Given the description of an element on the screen output the (x, y) to click on. 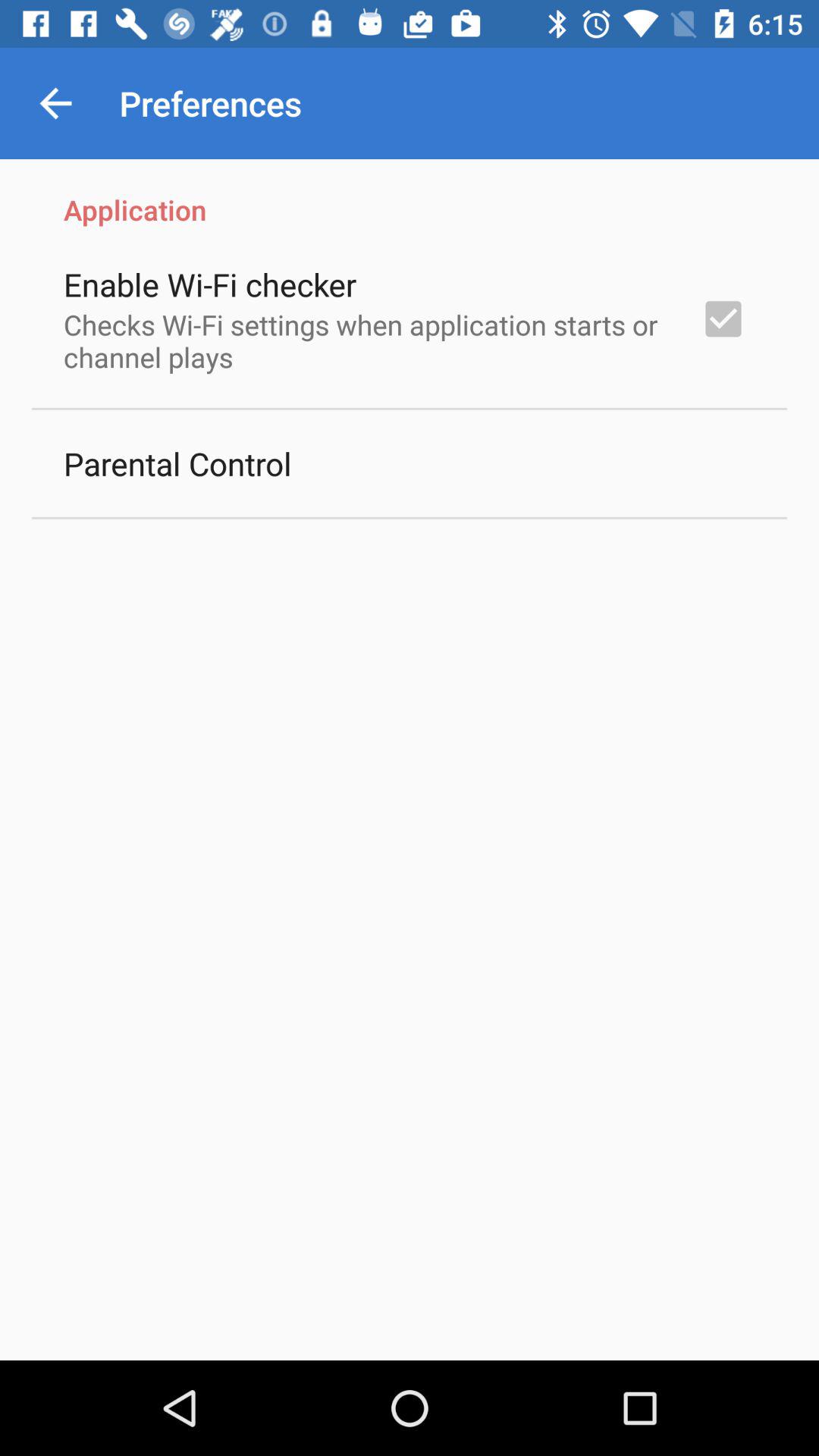
turn on the item below the application icon (723, 318)
